Given the description of an element on the screen output the (x, y) to click on. 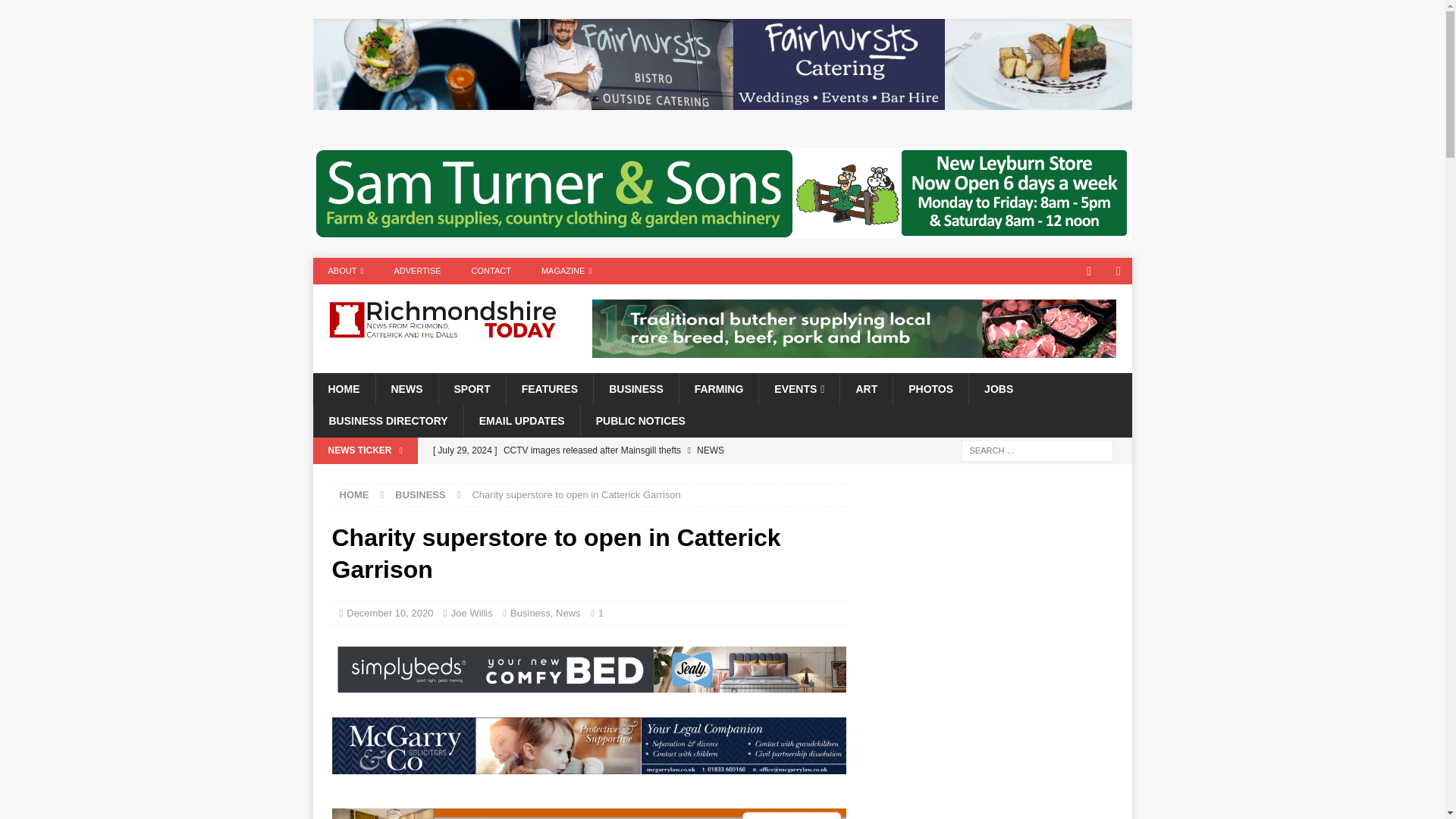
BUSINESS (635, 388)
MAGAZINE (566, 270)
ADVERTISE (416, 270)
CONTACT (491, 270)
HOME (354, 494)
JOBS (997, 388)
NEWS (406, 388)
EMAIL UPDATES (521, 420)
SPORT (471, 388)
ABOUT (345, 270)
FARMING (718, 388)
Search (56, 11)
HOME (343, 388)
EVENTS (799, 388)
ART (866, 388)
